Given the description of an element on the screen output the (x, y) to click on. 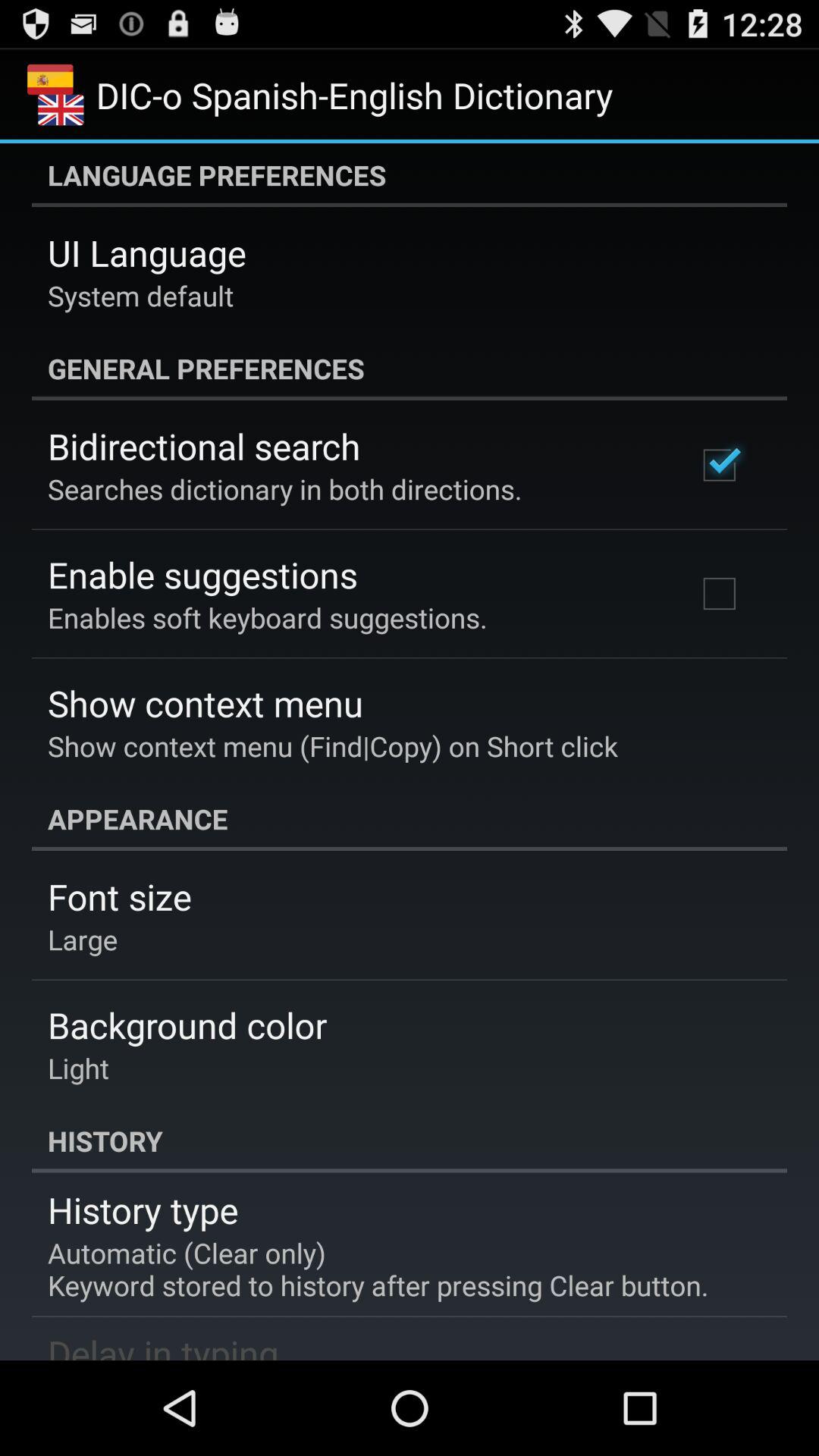
choose large item (82, 939)
